Given the description of an element on the screen output the (x, y) to click on. 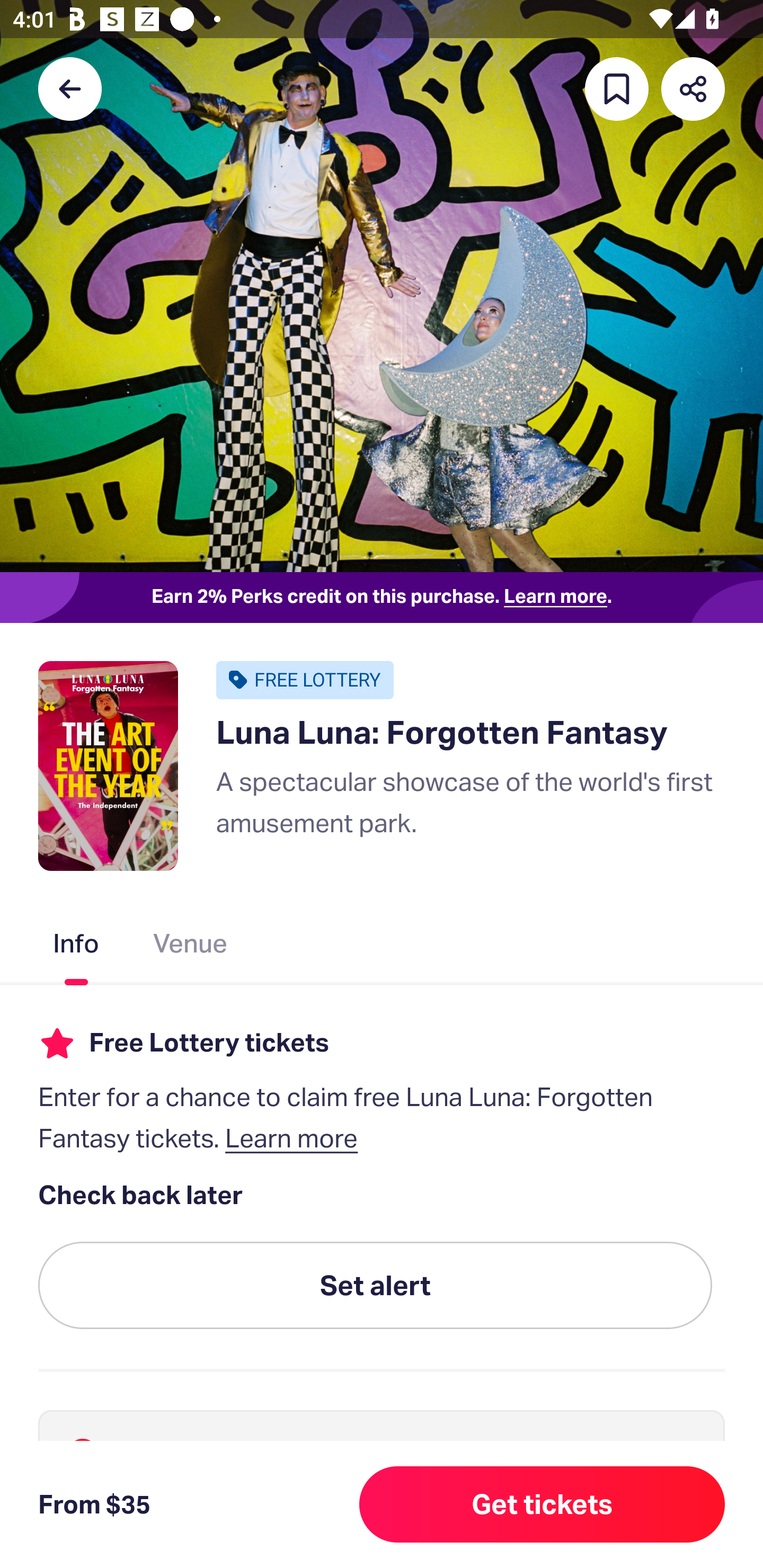
Earn 2% Perks credit on this purchase. Learn more. (381, 597)
Venue (190, 946)
Set alert (374, 1286)
Get tickets (541, 1504)
